Given the description of an element on the screen output the (x, y) to click on. 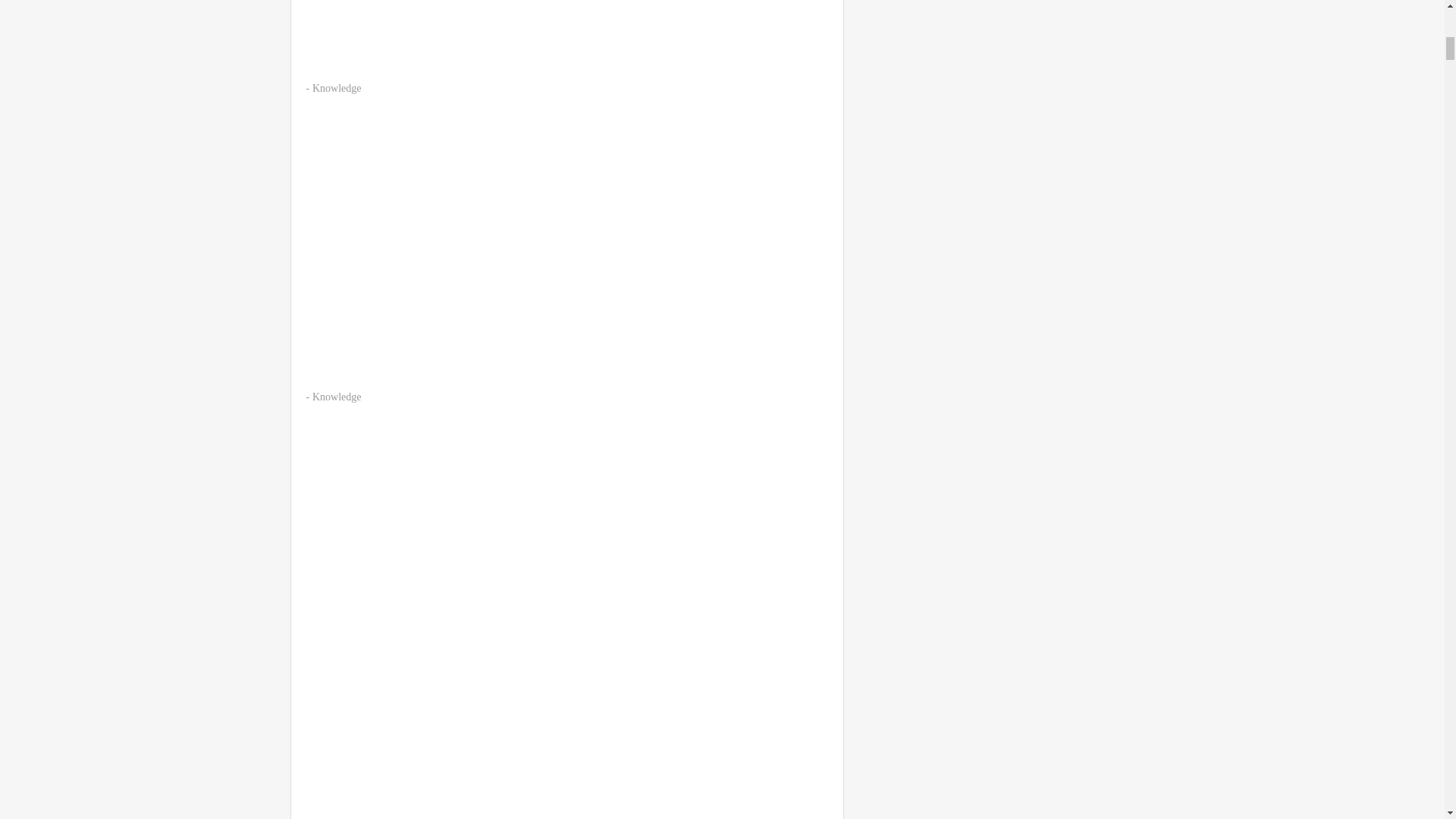
Knowledge (337, 88)
Knowledge (337, 396)
